Given the description of an element on the screen output the (x, y) to click on. 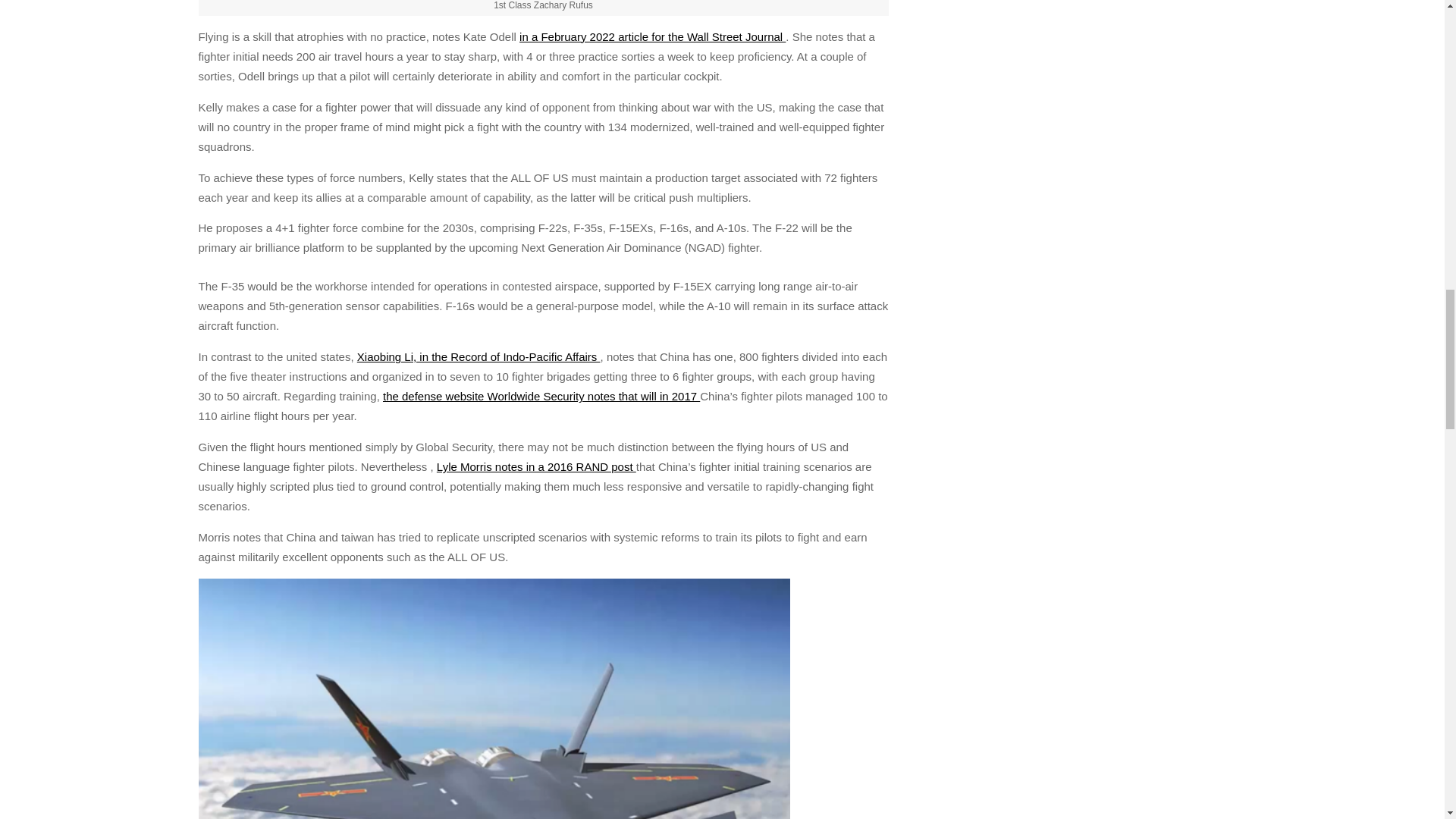
Xiaobing Li, in the Record of Indo-Pacific Affairs (477, 356)
Lyle Morris notes in a 2016 RAND post (536, 466)
in a February 2022 article for the Wall Street Journal (652, 36)
